Given the description of an element on the screen output the (x, y) to click on. 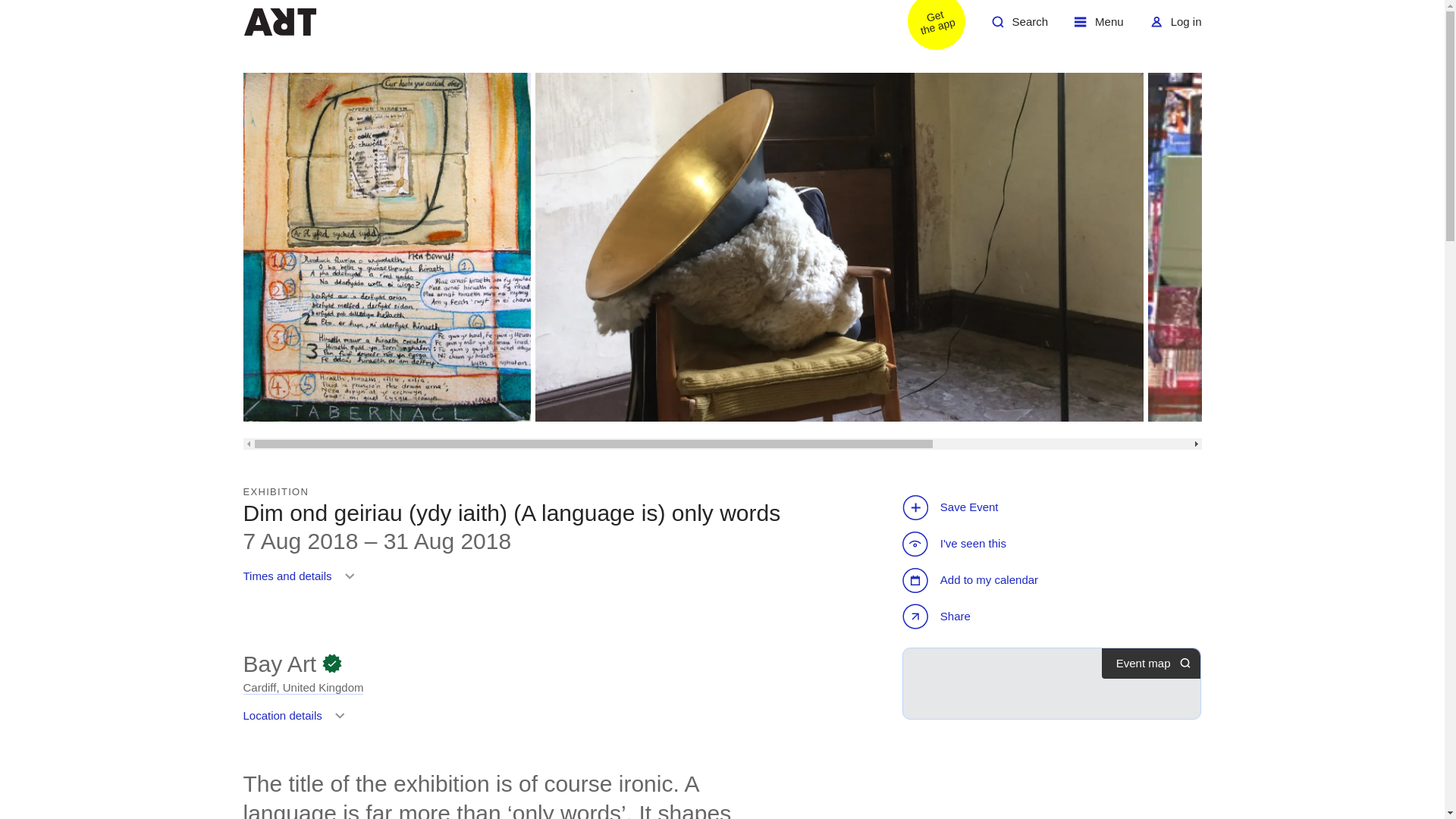
Add to my calendar (302, 544)
Cardiff, United Kingdom (297, 684)
Share (1176, 26)
Bay Art (972, 543)
Welcome to ArtRabbit (926, 27)
